Given the description of an element on the screen output the (x, y) to click on. 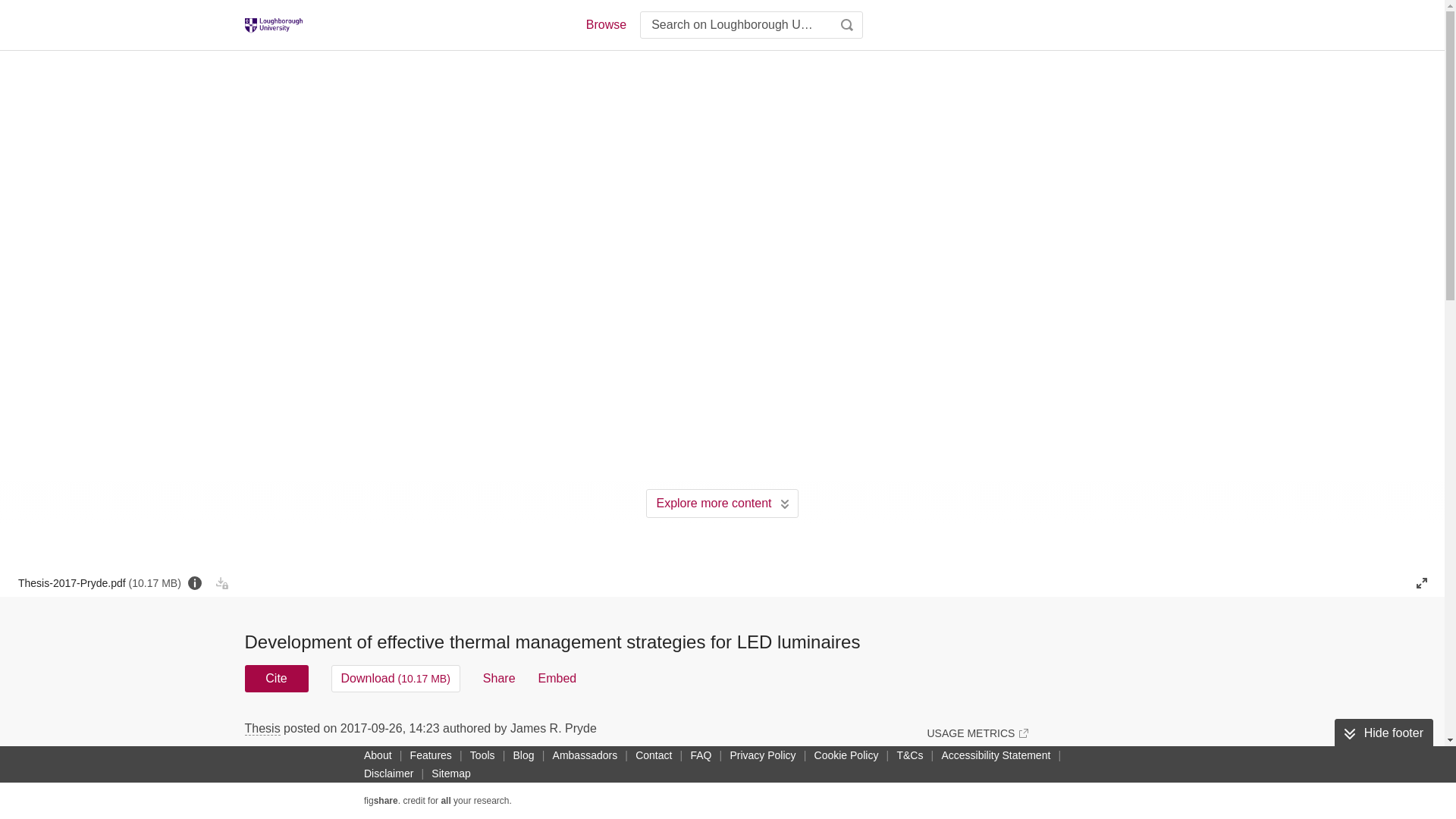
Hide footer (1383, 733)
Thesis-2017-Pryde.pdf (98, 583)
About (377, 755)
USAGE METRICS (976, 732)
Cite (275, 678)
Share (499, 678)
Explore more content (721, 502)
Embed (557, 678)
Browse (605, 24)
